Given the description of an element on the screen output the (x, y) to click on. 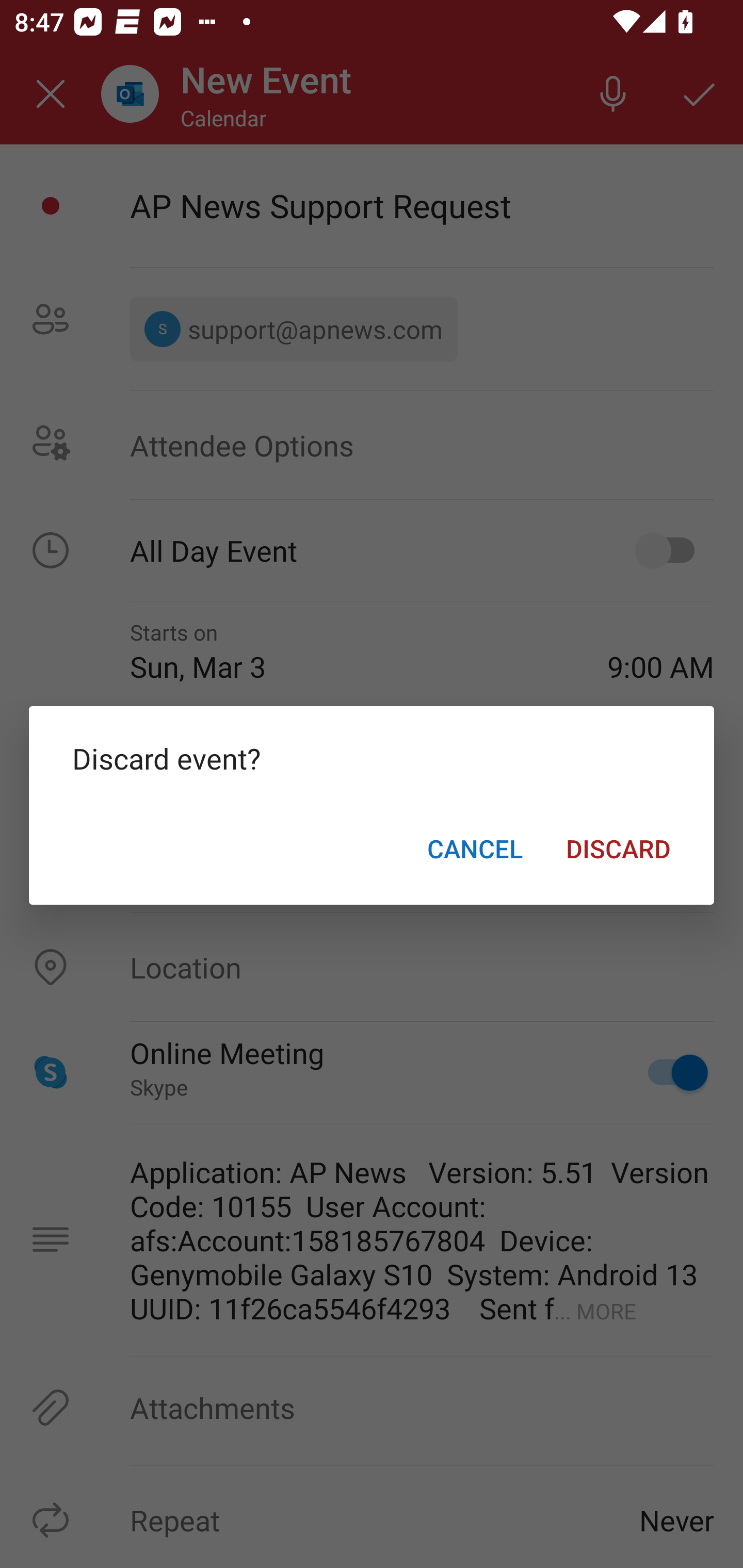
CANCEL (474, 847)
DISCARD (618, 847)
